Given the description of an element on the screen output the (x, y) to click on. 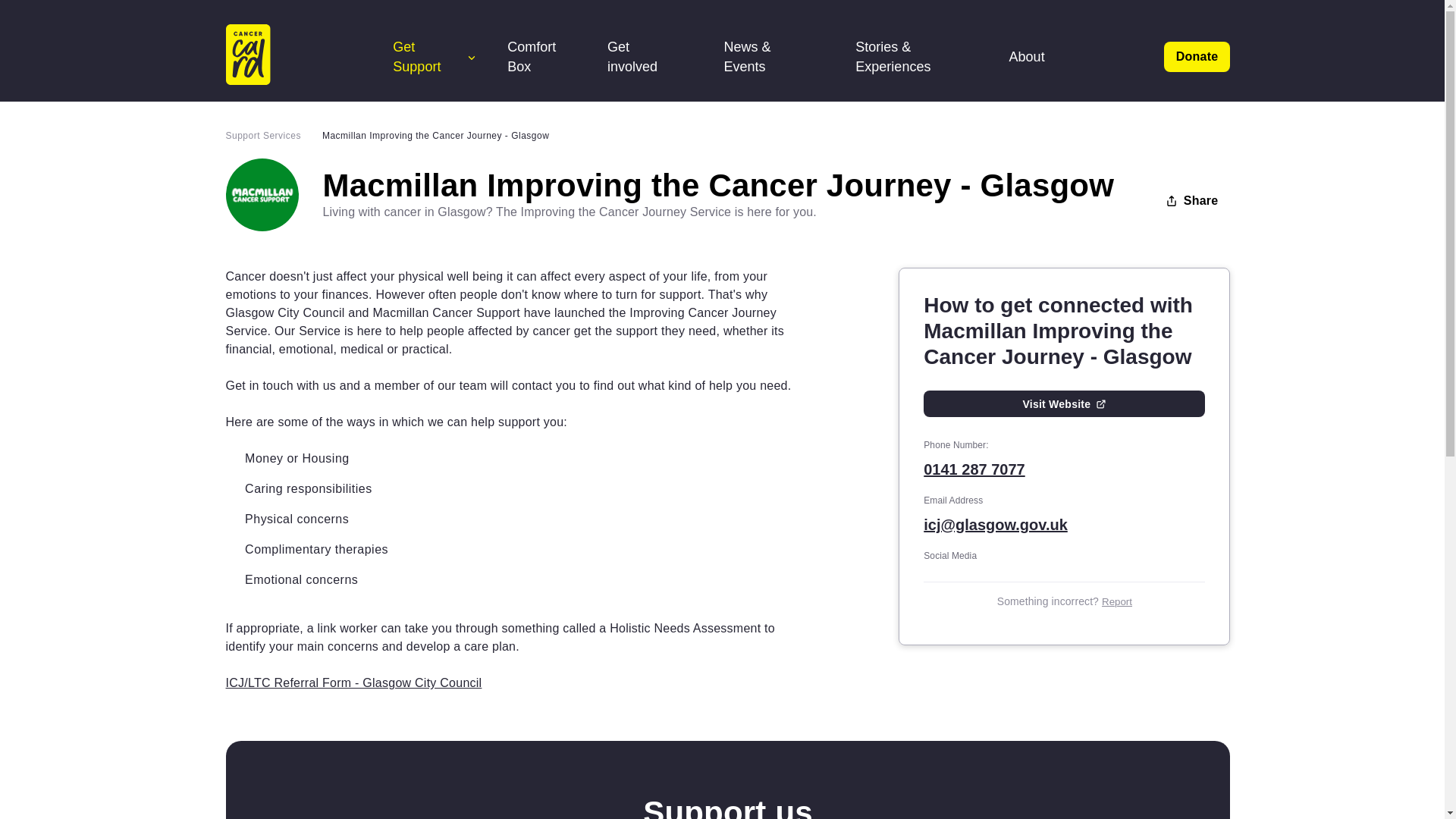
Donate (1196, 56)
Get Support (435, 56)
Get involved (650, 56)
Share (1191, 200)
Comfort Box (541, 56)
Support Services (273, 136)
0141 287 7077 (1064, 469)
Visit Website (1064, 403)
Home (266, 56)
Macmillan Improving the Cancer Journey - Glasgow (434, 136)
